Given the description of an element on the screen output the (x, y) to click on. 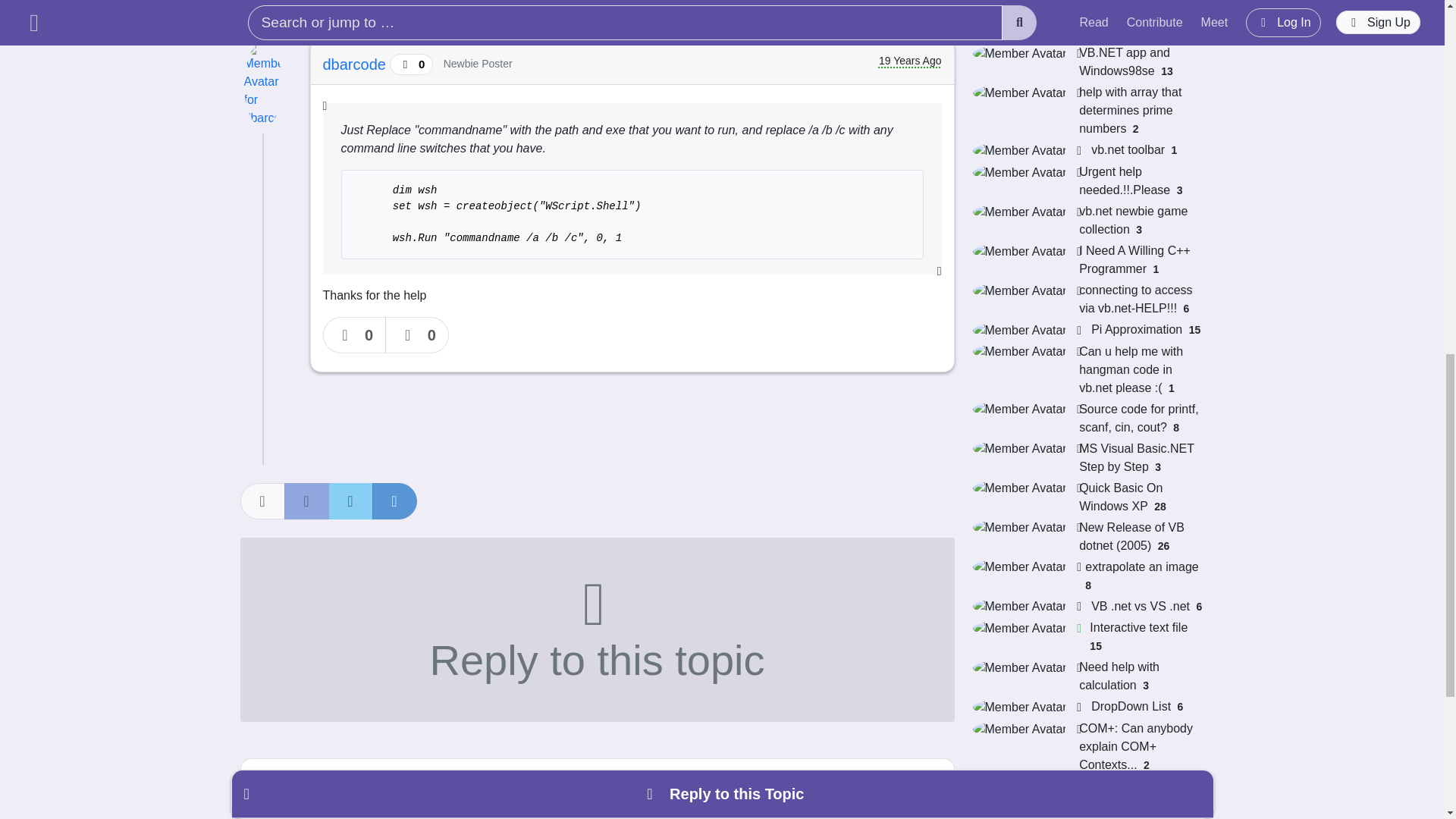
0 (355, 334)
0 (416, 334)
Urgent help needed.!!.Please 3 (1088, 180)
Twitter (349, 501)
dbarcode (356, 64)
VB.NET - Using streamreader with relative path. 4 (1088, 20)
help with array that determines prime numbers 2 (1088, 110)
Share (261, 501)
VB.NET app and Windows98se 13 (1088, 62)
Reply to this topic (596, 629)
